Given the description of an element on the screen output the (x, y) to click on. 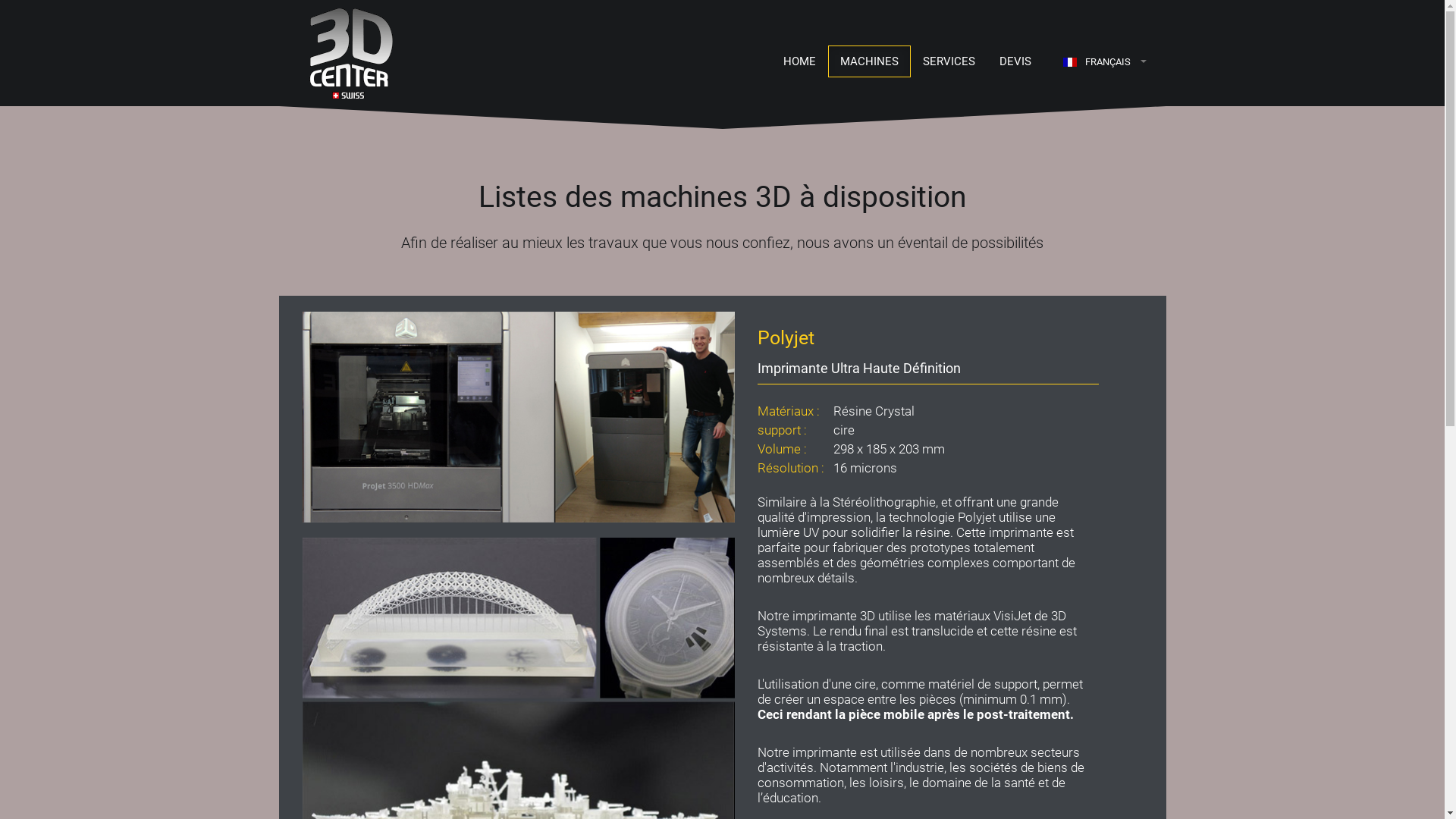
Project 3500 HDMax Element type: hover (517, 416)
HOME Element type: text (798, 61)
SERVICES Element type: text (948, 61)
MACHINES Element type: text (869, 61)
3D Center, centre d'impression 3D en Suisse romande Element type: hover (335, 52)
DEVIS Element type: text (1015, 61)
